Given the description of an element on the screen output the (x, y) to click on. 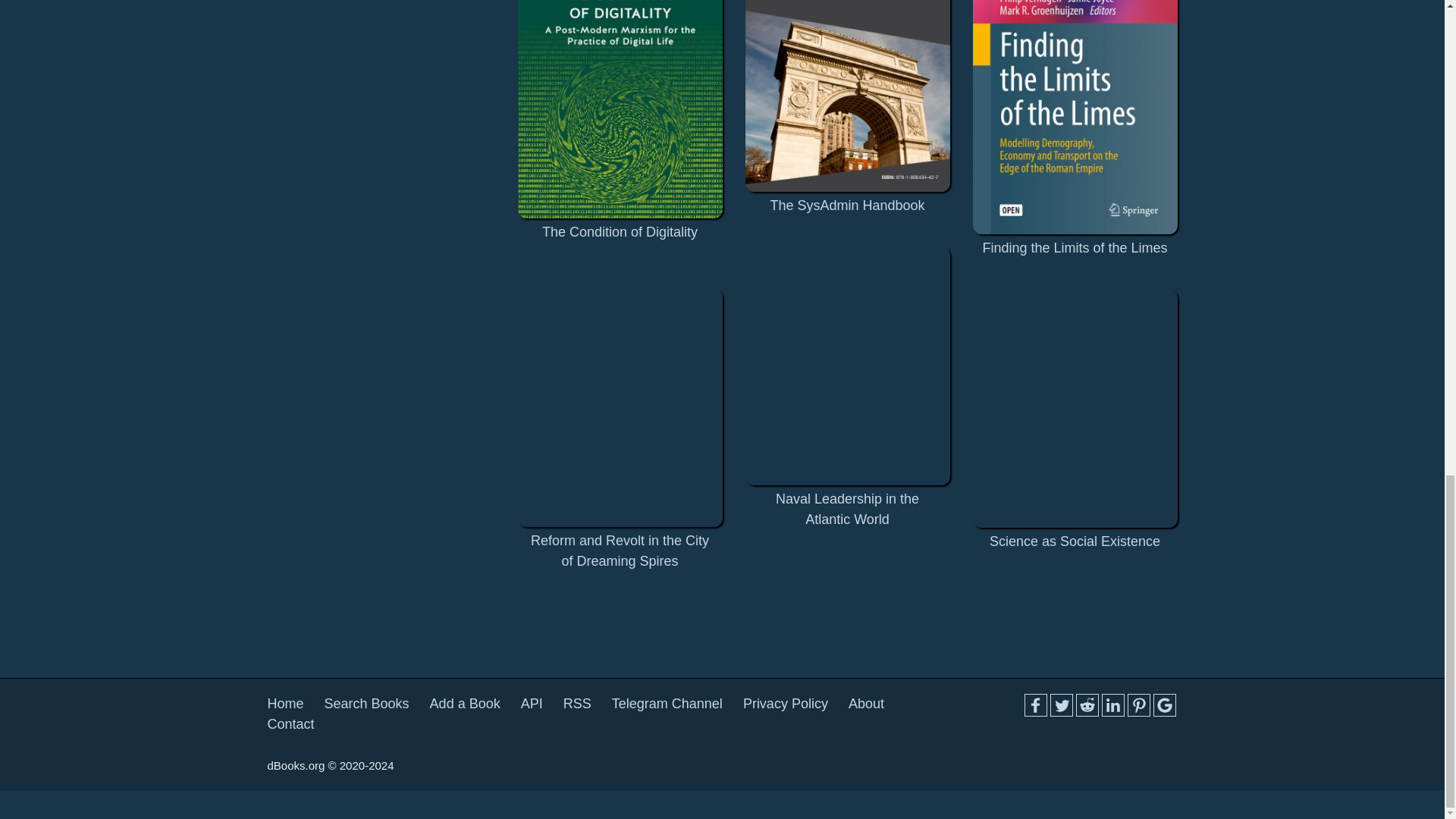
Share to Pinterest (1138, 704)
Add to Google Bookmarks (1163, 704)
Share to Reddit (1086, 704)
Share to LinkedIn (1112, 704)
Share to Twitter (1060, 704)
Share to Facebook (1034, 704)
